Given the description of an element on the screen output the (x, y) to click on. 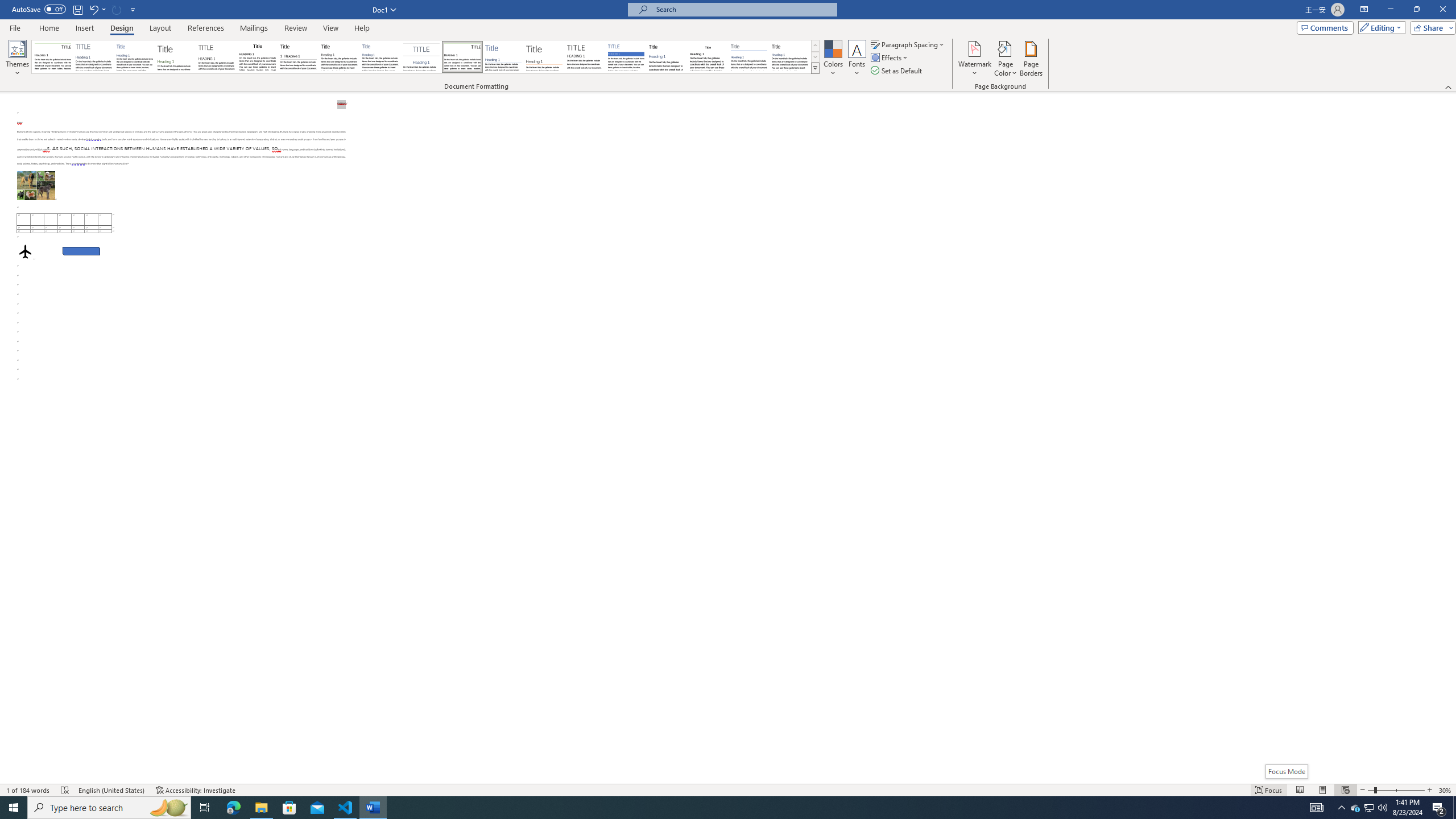
Effects (890, 56)
Shaded (625, 56)
AutomationID: QuickStylesSets (425, 56)
Black & White (Word 2013) (338, 56)
Word 2013 (790, 56)
